Given the description of an element on the screen output the (x, y) to click on. 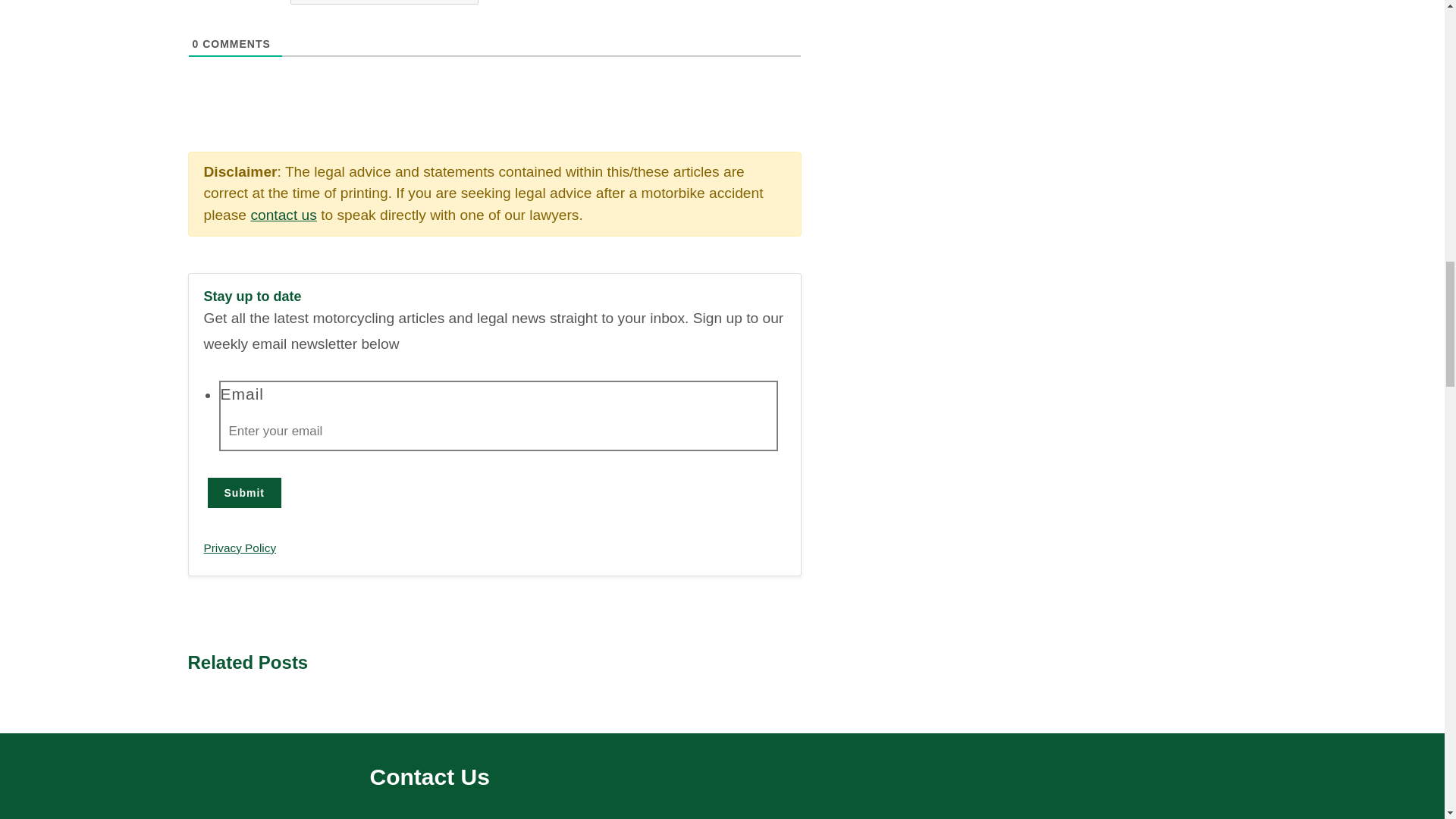
Privacy Policy (239, 547)
Submit (244, 492)
Submit (244, 492)
contact us (282, 214)
7.3.6 (384, 2)
